Given the description of an element on the screen output the (x, y) to click on. 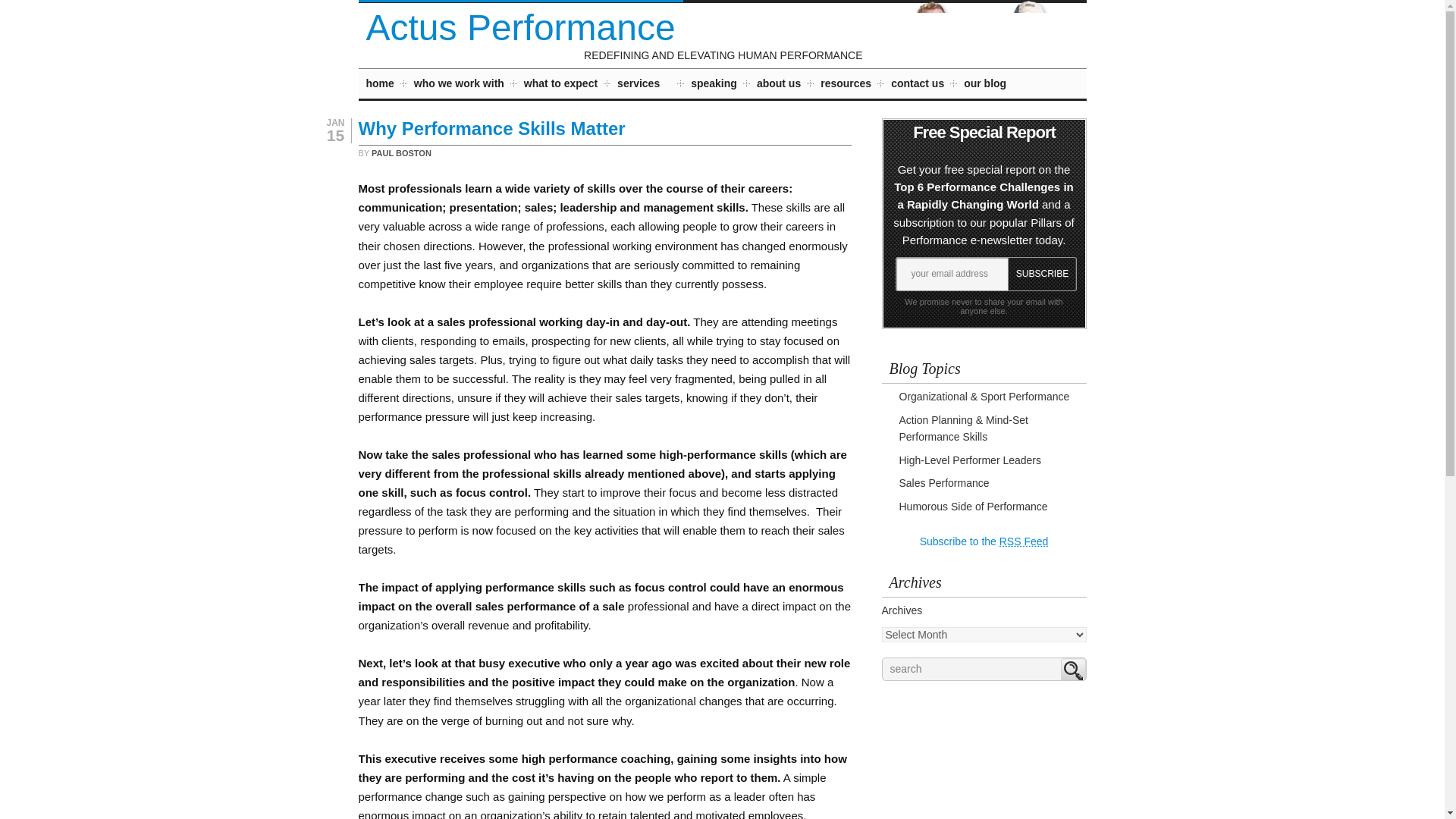
who we work with (458, 84)
speaking (713, 84)
Subscribe (1043, 274)
Humorous Side of Performance (973, 506)
contact us (917, 84)
Subscribe (1043, 274)
your email address (951, 274)
Subscribe to the RSS Feed (984, 541)
High-Level Performer Leaders (970, 460)
search (983, 668)
what to expect (560, 84)
Sales Performance (944, 482)
Really Simple Syndication (1023, 541)
PAUL BOSTON (400, 153)
about us (778, 84)
